Given the description of an element on the screen output the (x, y) to click on. 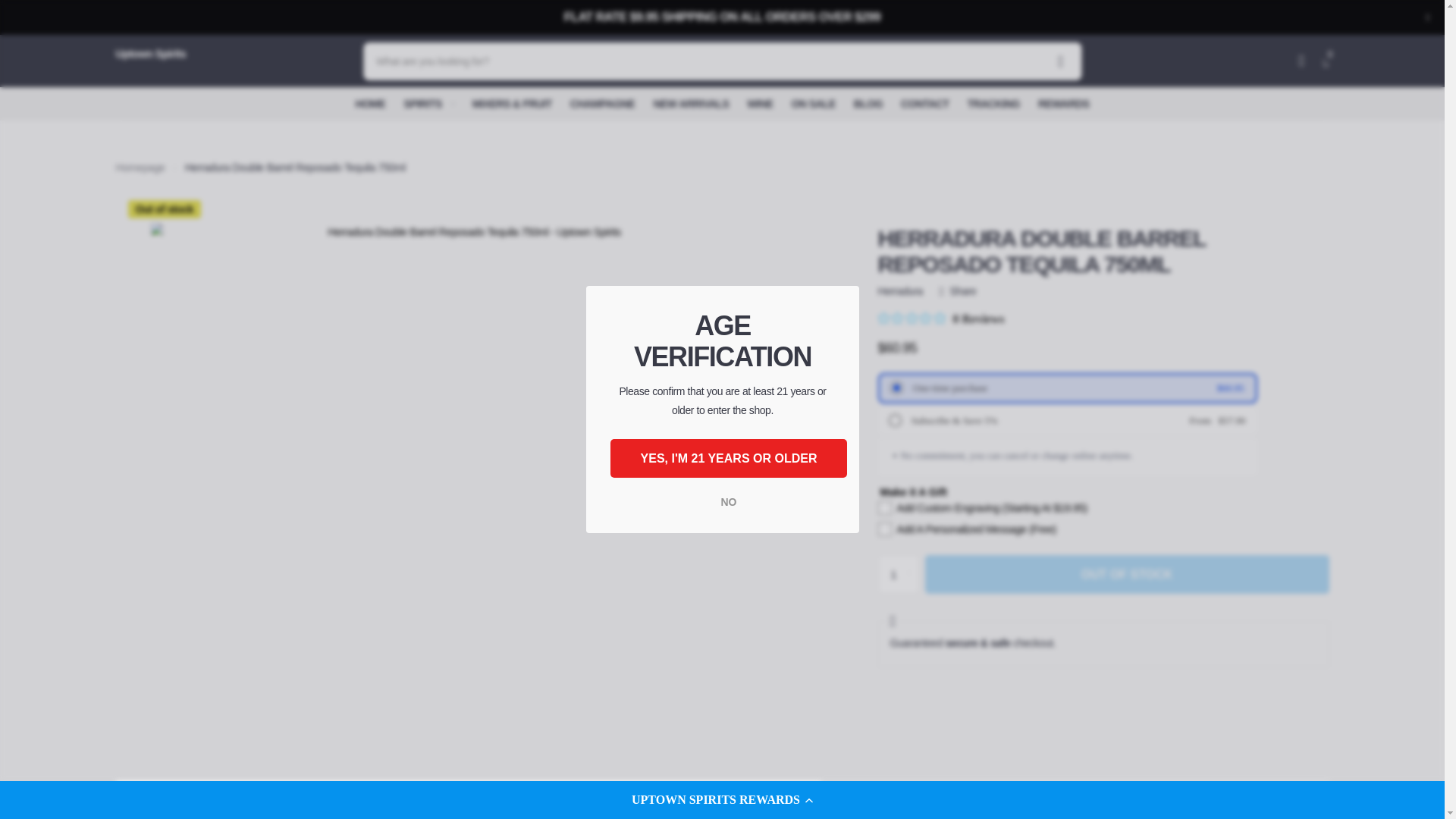
HOME (370, 103)
Home (139, 167)
0 Reviews (940, 318)
Close (1427, 17)
689839603988 (892, 418)
1 (897, 574)
SPIRITS (428, 103)
ZOEKEN (1060, 61)
